Given the description of an element on the screen output the (x, y) to click on. 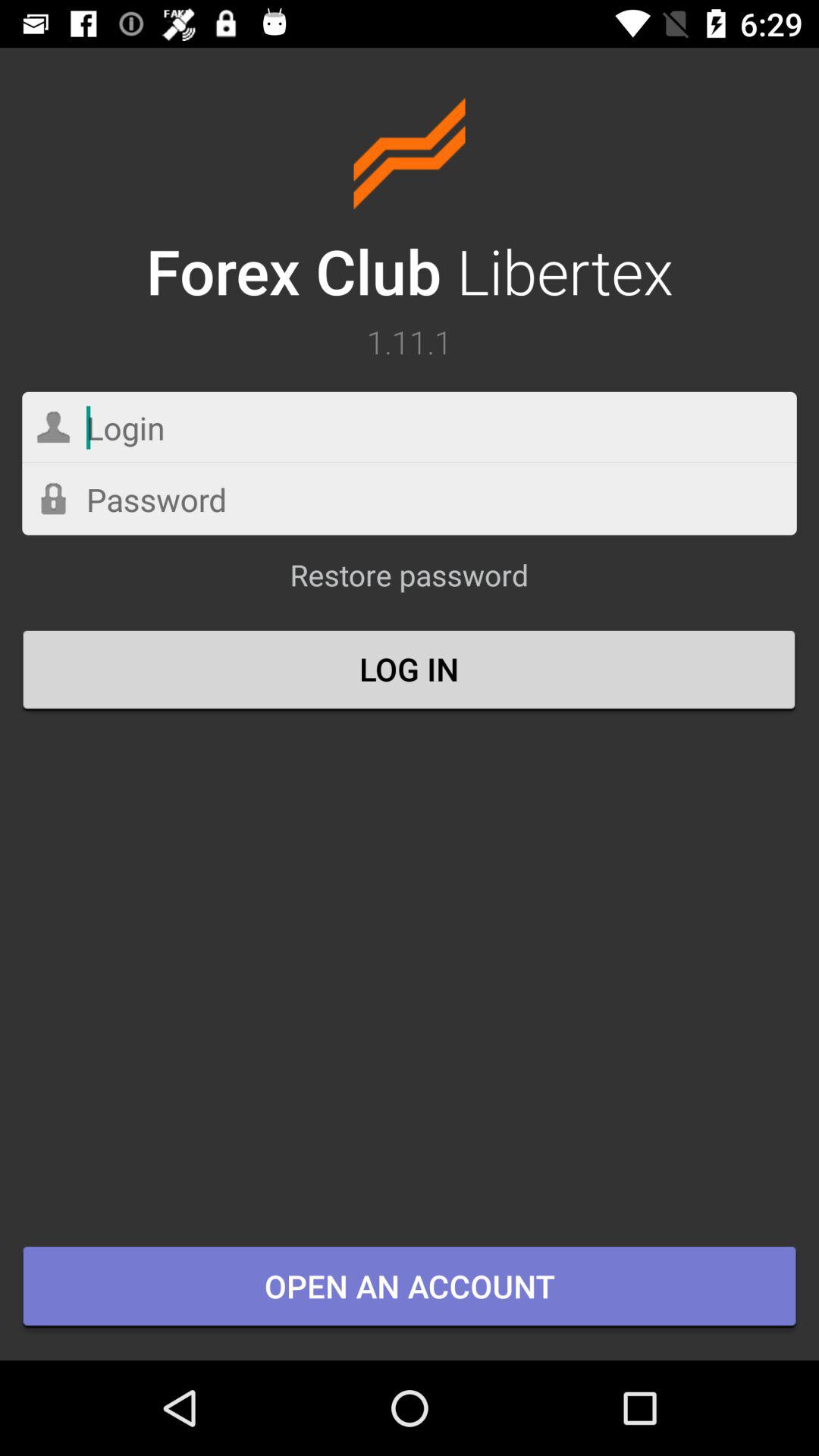
select the open an account item (409, 1287)
